Given the description of an element on the screen output the (x, y) to click on. 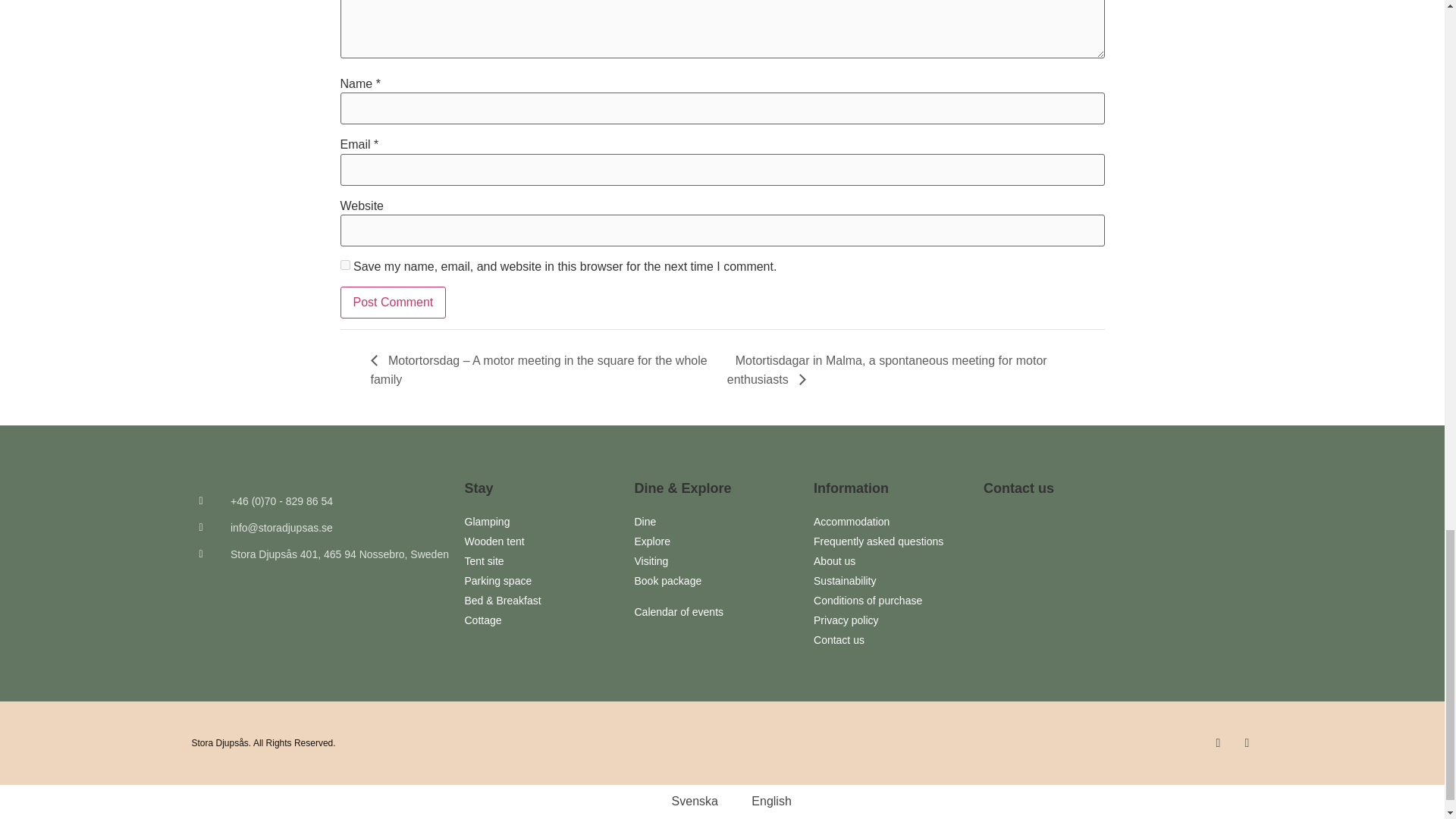
Parking space (541, 580)
Stay (478, 488)
Post Comment (392, 302)
Visiting (715, 561)
Book package (715, 580)
Wooden tent (541, 541)
yes (344, 265)
Frequently asked questions (890, 541)
Calendar of events (715, 611)
Dine (715, 521)
Explore (715, 541)
Tent site (541, 561)
Information (850, 488)
Glamping (541, 521)
